Given the description of an element on the screen output the (x, y) to click on. 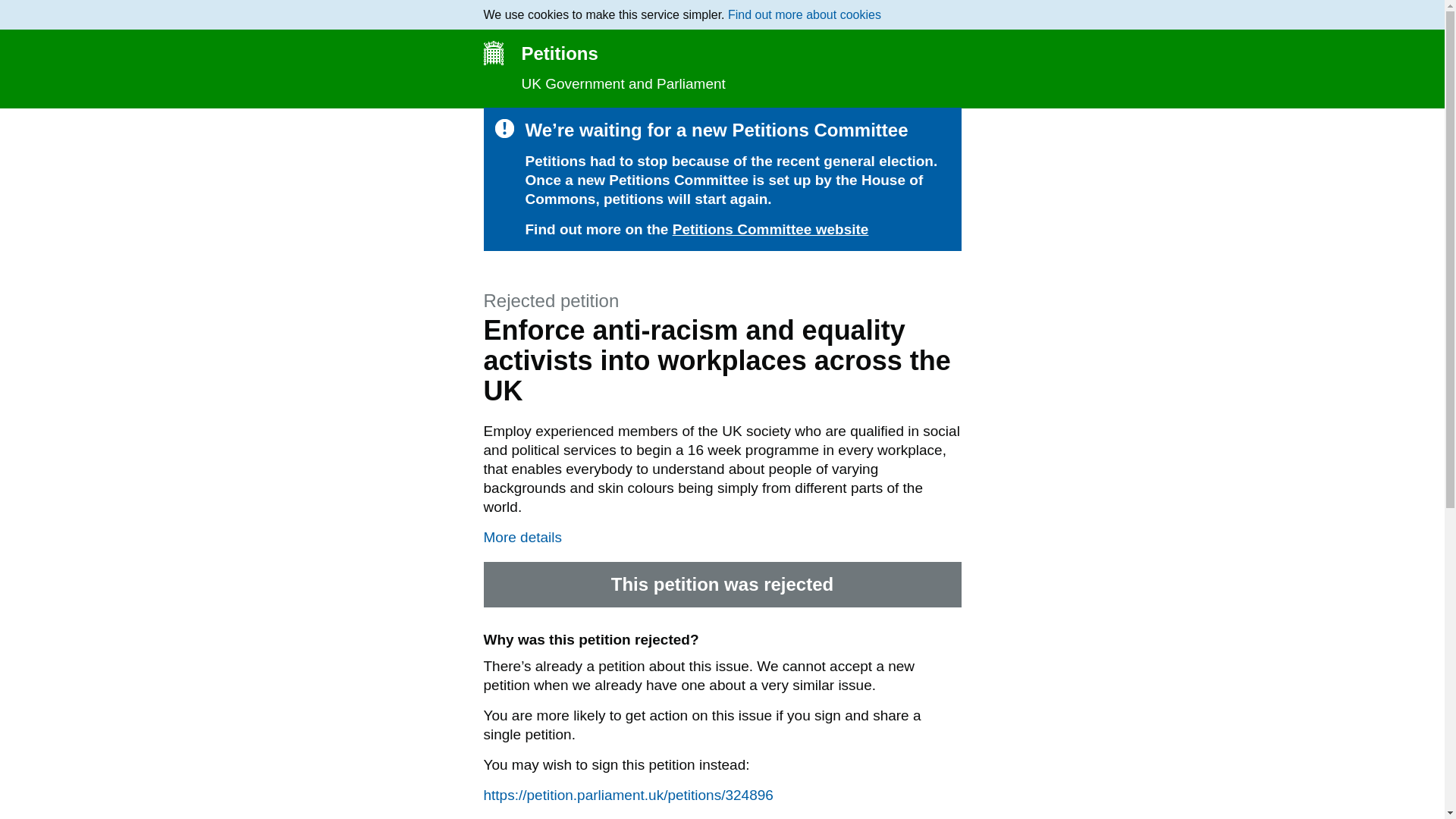
Petitions Committee website (770, 229)
Go to the petitions homepage (721, 53)
petition standards (816, 818)
Find out more about cookies (804, 14)
Petitions (721, 53)
